Given the description of an element on the screen output the (x, y) to click on. 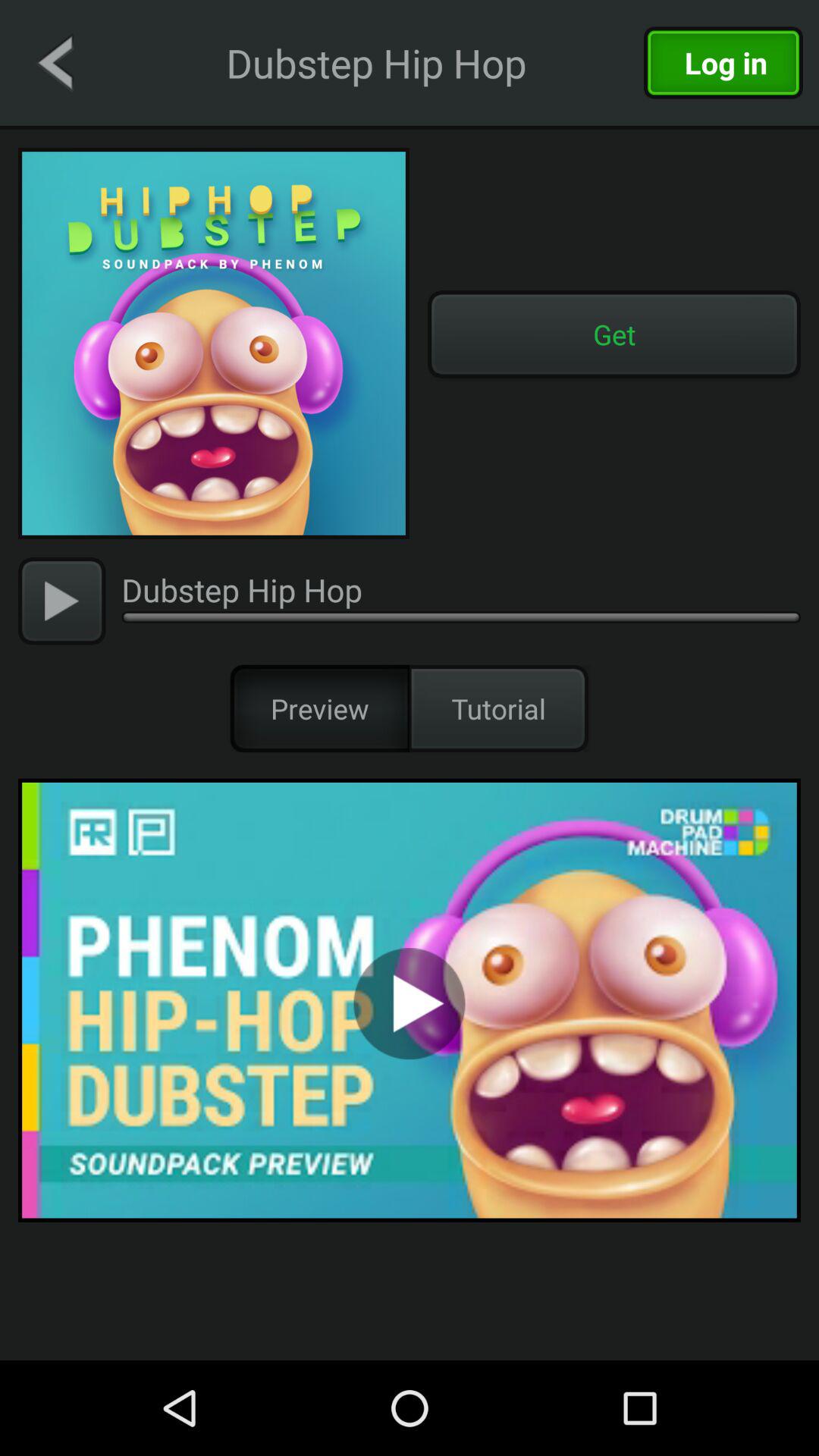
click the icon to the left of the dubstep hip hop app (54, 62)
